Given the description of an element on the screen output the (x, y) to click on. 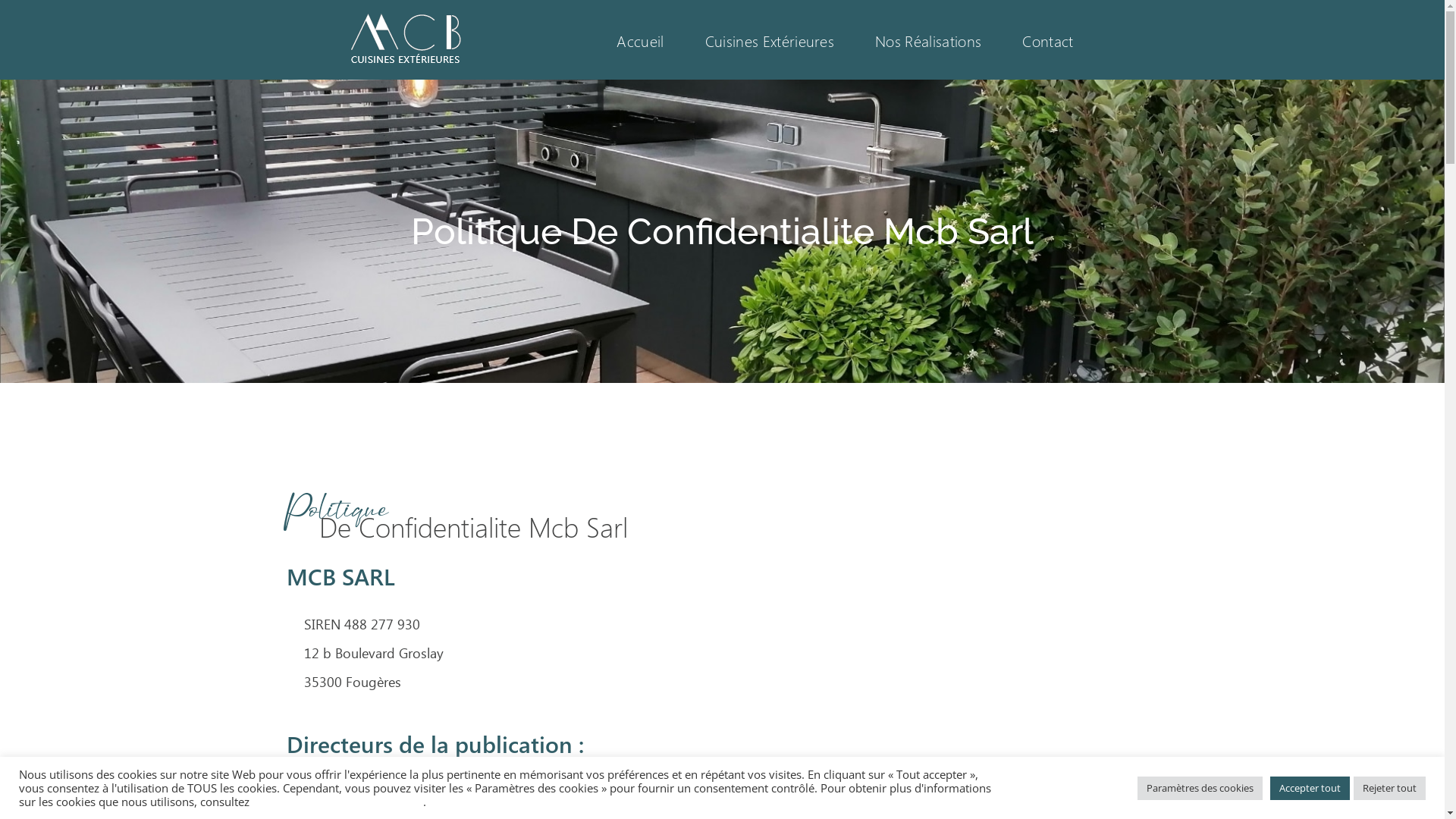
Accepter tout Element type: text (1309, 788)
Rejeter tout Element type: text (1389, 788)
Contact Element type: text (1047, 39)
Accueil Element type: text (640, 39)
